Given the description of an element on the screen output the (x, y) to click on. 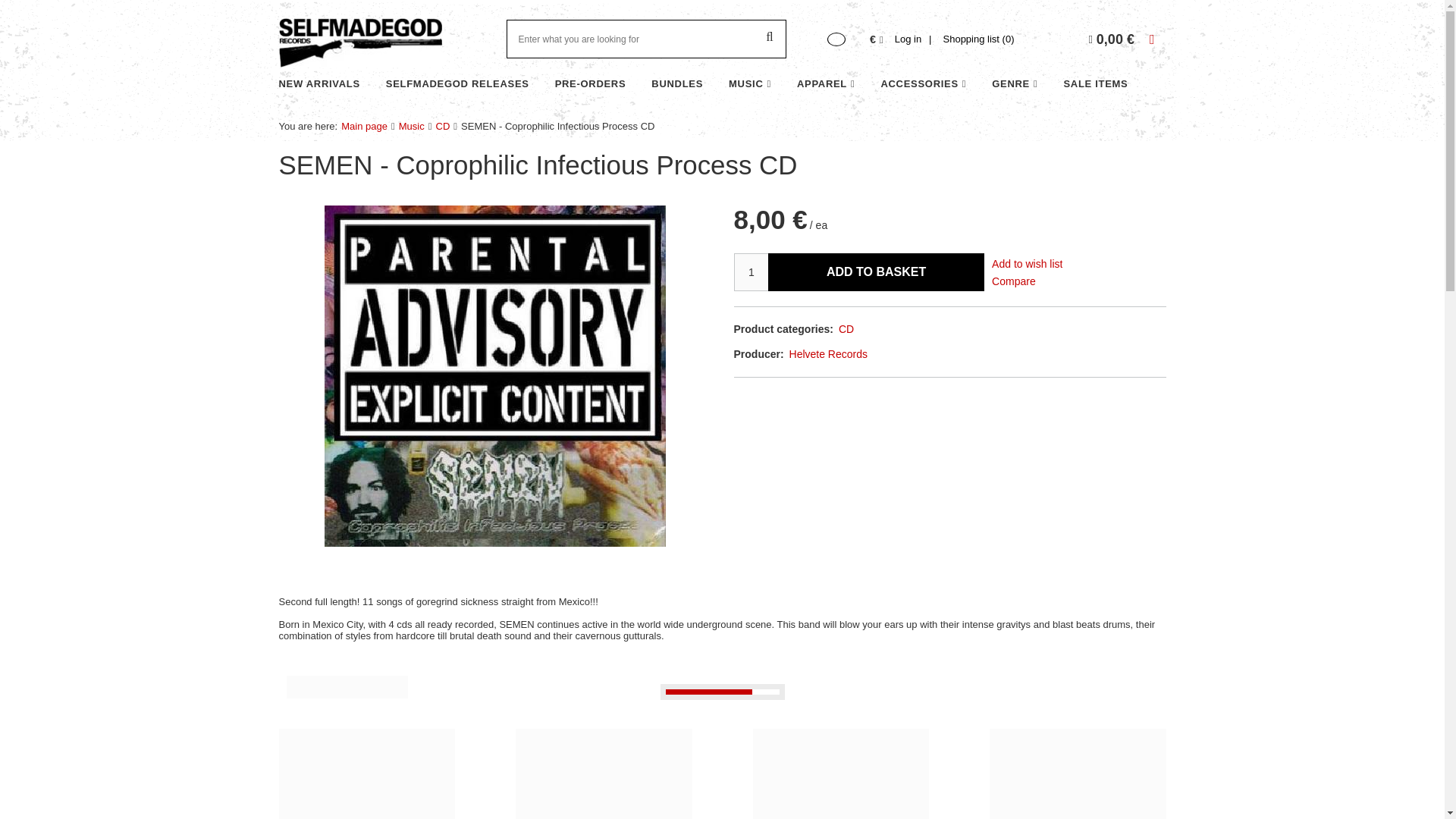
Add 1 item to shopping basket (876, 272)
1 (750, 272)
NEW ARRIVALS (319, 84)
APPAREL (826, 84)
New arrivals (319, 84)
ACCESSORIES (923, 84)
SELFMADEGOD releases (457, 84)
BUNDLES (676, 84)
Sale items (1095, 84)
Bundles (676, 84)
